Given the description of an element on the screen output the (x, y) to click on. 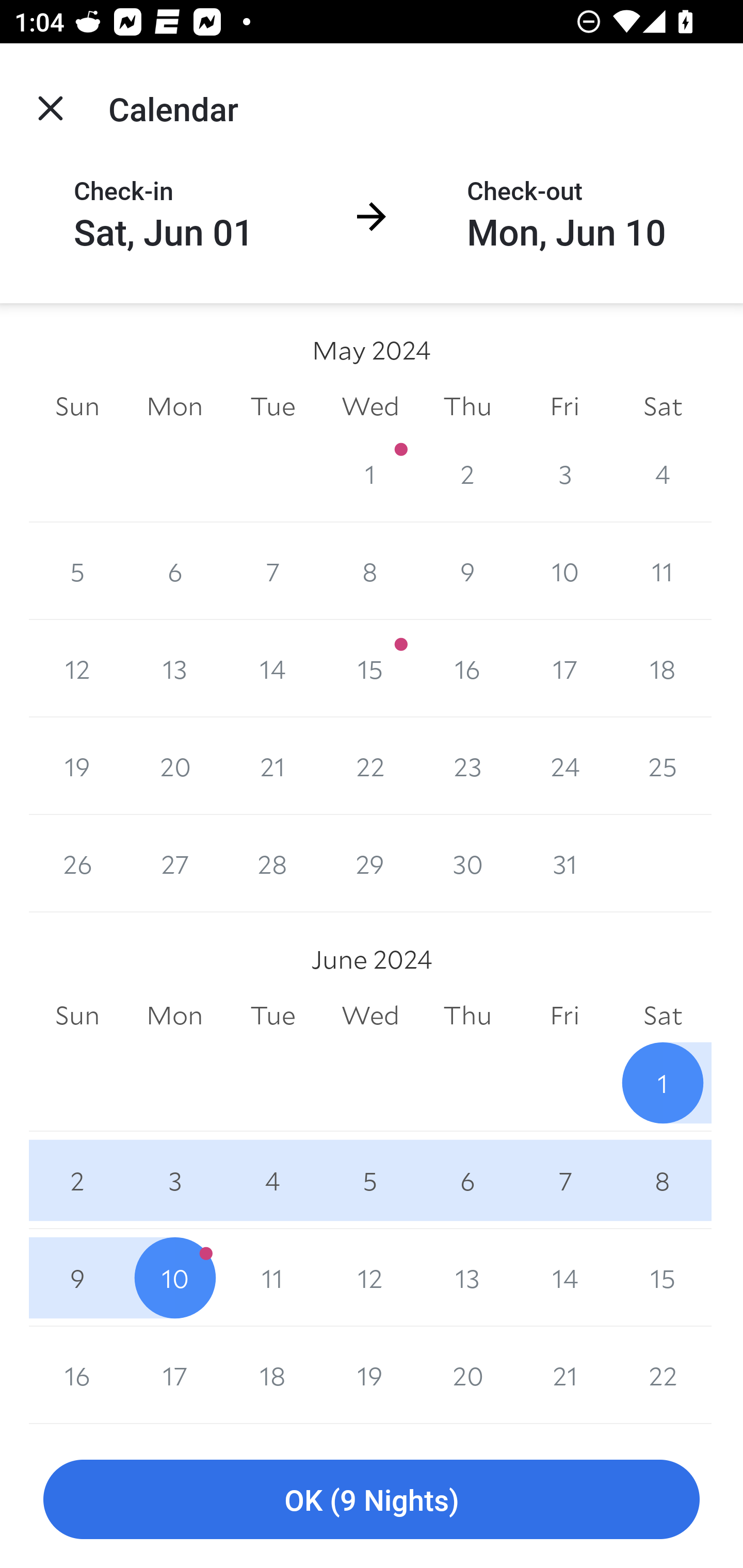
Sun (77, 405)
Mon (174, 405)
Tue (272, 405)
Wed (370, 405)
Thu (467, 405)
Fri (564, 405)
Sat (662, 405)
1 1 May 2024 (370, 473)
2 2 May 2024 (467, 473)
3 3 May 2024 (564, 473)
4 4 May 2024 (662, 473)
5 5 May 2024 (77, 570)
6 6 May 2024 (174, 570)
7 7 May 2024 (272, 570)
8 8 May 2024 (370, 570)
9 9 May 2024 (467, 570)
10 10 May 2024 (564, 570)
11 11 May 2024 (662, 570)
12 12 May 2024 (77, 668)
13 13 May 2024 (174, 668)
14 14 May 2024 (272, 668)
15 15 May 2024 (370, 668)
16 16 May 2024 (467, 668)
17 17 May 2024 (564, 668)
18 18 May 2024 (662, 668)
19 19 May 2024 (77, 766)
20 20 May 2024 (174, 766)
21 21 May 2024 (272, 766)
22 22 May 2024 (370, 766)
23 23 May 2024 (467, 766)
24 24 May 2024 (564, 766)
25 25 May 2024 (662, 766)
26 26 May 2024 (77, 863)
27 27 May 2024 (174, 863)
28 28 May 2024 (272, 863)
29 29 May 2024 (370, 863)
30 30 May 2024 (467, 863)
31 31 May 2024 (564, 863)
Sun (77, 1015)
Mon (174, 1015)
Tue (272, 1015)
Wed (370, 1015)
Thu (467, 1015)
Fri (564, 1015)
Sat (662, 1015)
1 1 June 2024 (662, 1083)
2 2 June 2024 (77, 1180)
3 3 June 2024 (174, 1180)
4 4 June 2024 (272, 1180)
5 5 June 2024 (370, 1180)
6 6 June 2024 (467, 1180)
7 7 June 2024 (564, 1180)
8 8 June 2024 (662, 1180)
9 9 June 2024 (77, 1277)
10 10 June 2024 (174, 1277)
11 11 June 2024 (272, 1277)
12 12 June 2024 (370, 1277)
13 13 June 2024 (467, 1277)
14 14 June 2024 (564, 1277)
15 15 June 2024 (662, 1277)
16 16 June 2024 (77, 1374)
17 17 June 2024 (174, 1374)
18 18 June 2024 (272, 1374)
19 19 June 2024 (370, 1374)
20 20 June 2024 (467, 1374)
21 21 June 2024 (564, 1374)
22 22 June 2024 (662, 1374)
OK (9 Nights) (371, 1499)
